Given the description of an element on the screen output the (x, y) to click on. 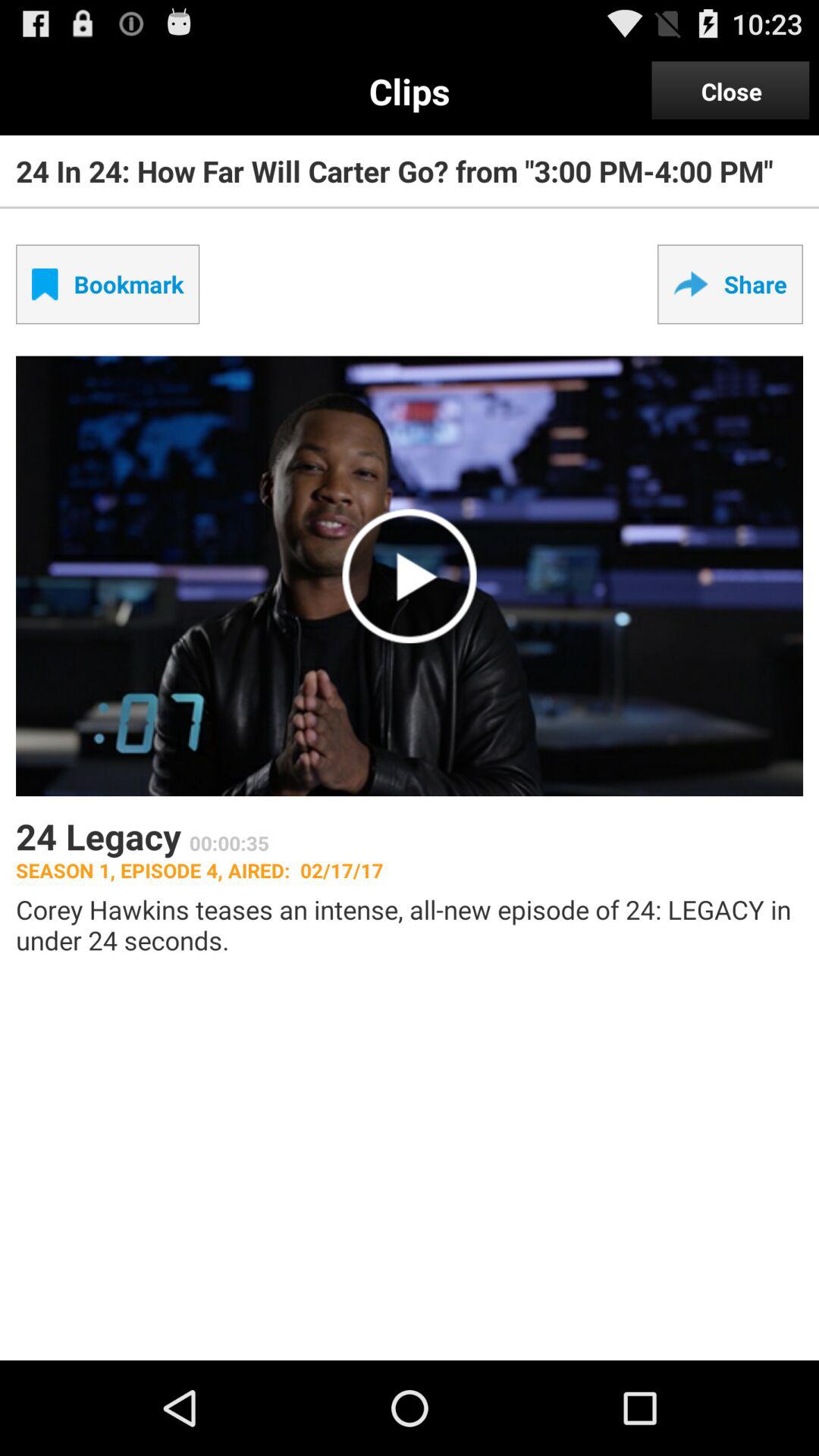
select share (730, 284)
